Given the description of an element on the screen output the (x, y) to click on. 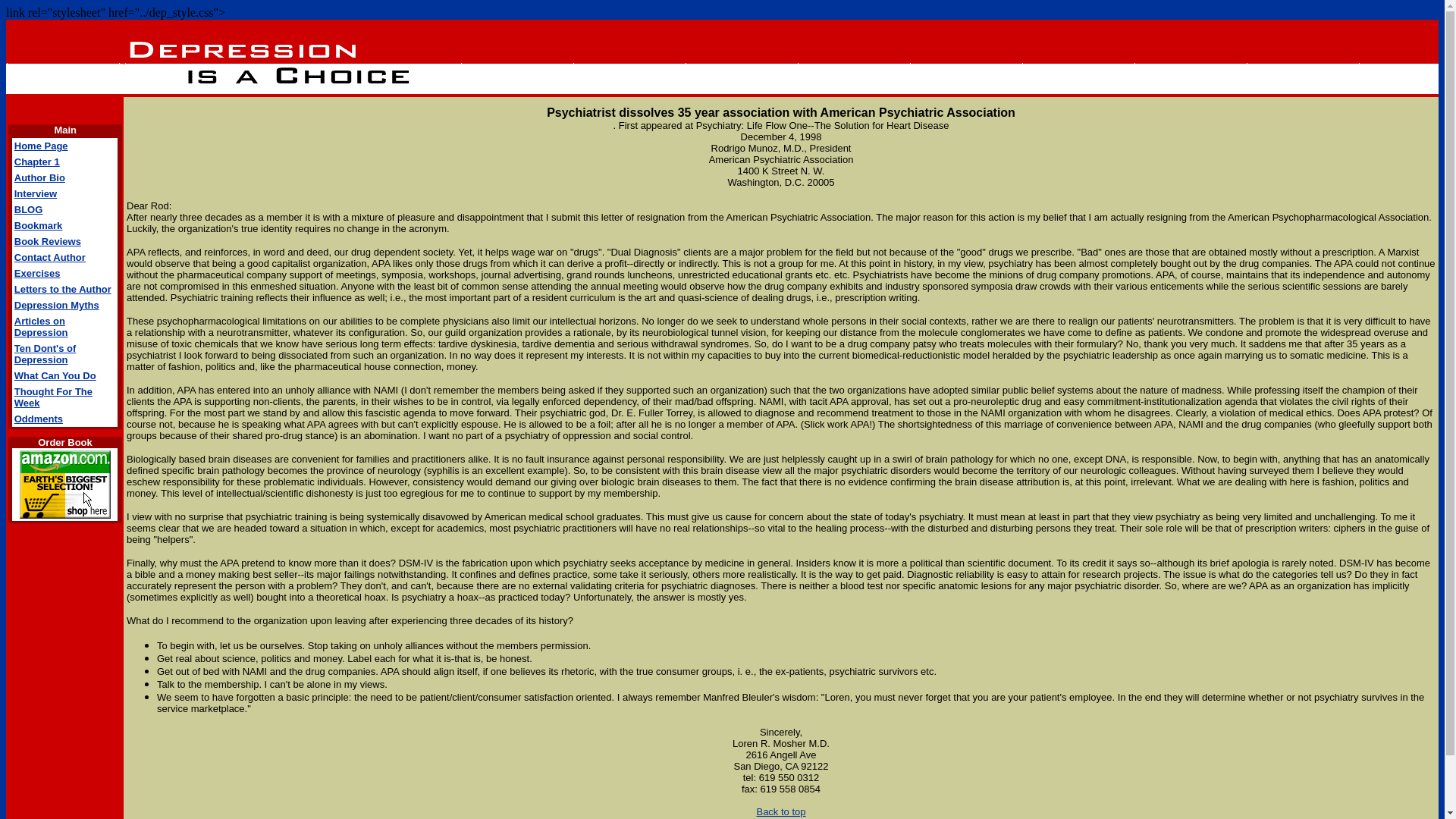
Thought For The Week (53, 396)
Depression Myths (56, 305)
Chapter 1 (36, 161)
Back to top (780, 811)
What Can You Do (55, 375)
Oddments (38, 419)
BLOG (28, 209)
Contact Author (49, 256)
Interview (35, 193)
Bookmark (38, 225)
